Given the description of an element on the screen output the (x, y) to click on. 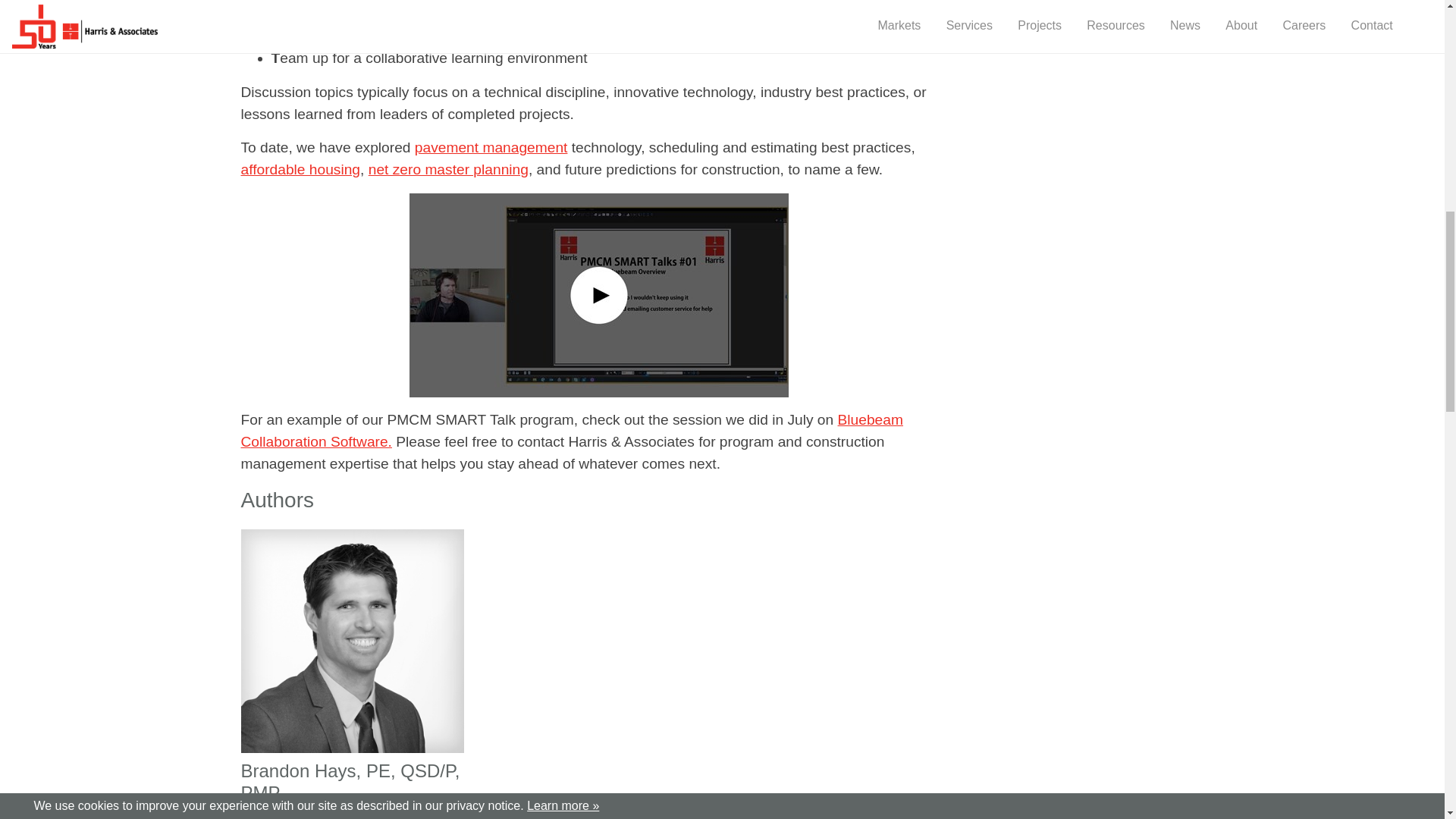
SMART Talks - Bluebeam Overview (571, 430)
